Given the description of an element on the screen output the (x, y) to click on. 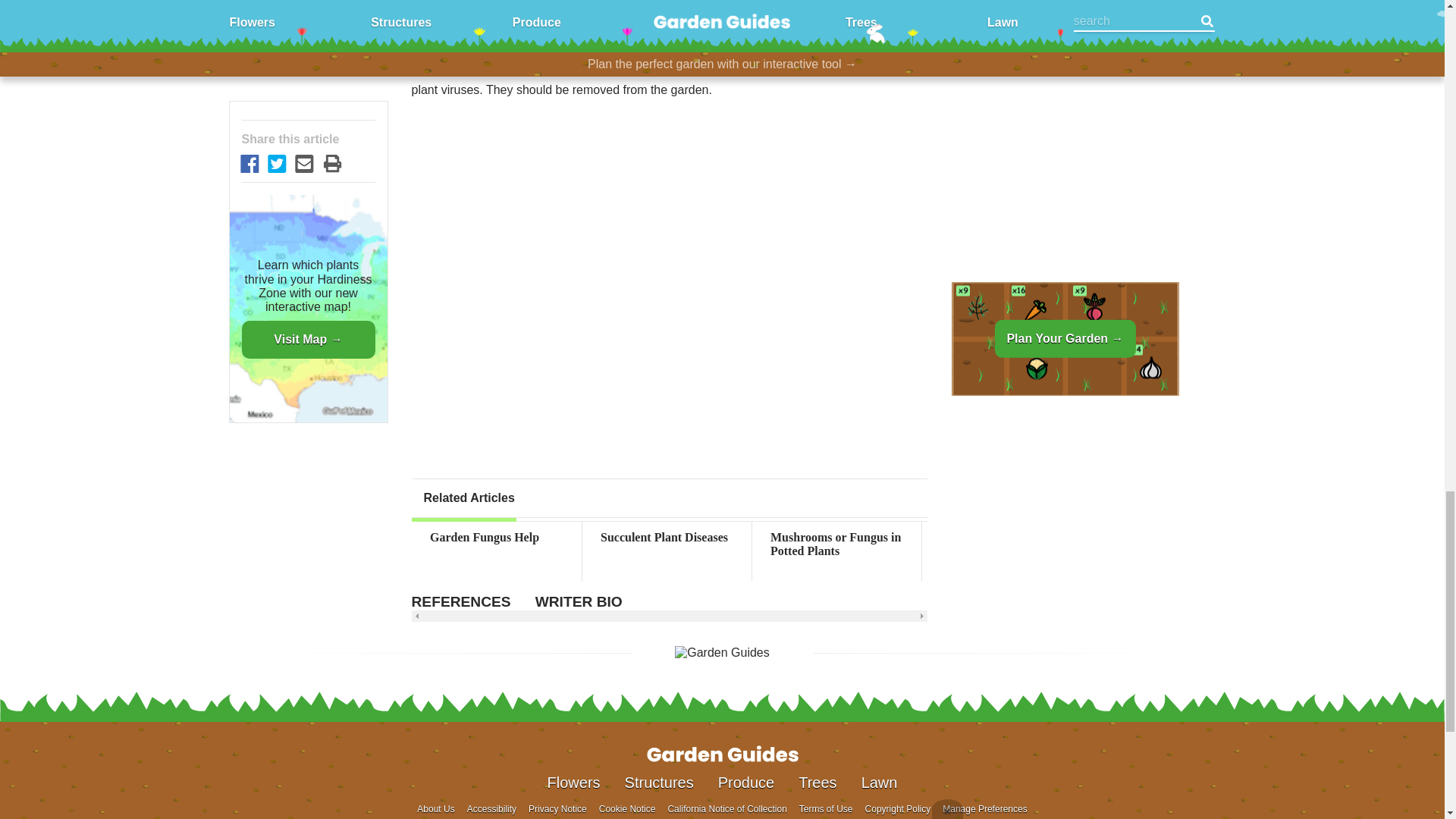
Garden Fungus Help (495, 537)
Diseases of Jade Plants (1005, 537)
Succulent Plant Diseases (666, 537)
Anthurium Diseases (1346, 537)
Kalanchoe Diseases (1176, 537)
Mushrooms or Fungus in Potted Plants (836, 544)
